Given the description of an element on the screen output the (x, y) to click on. 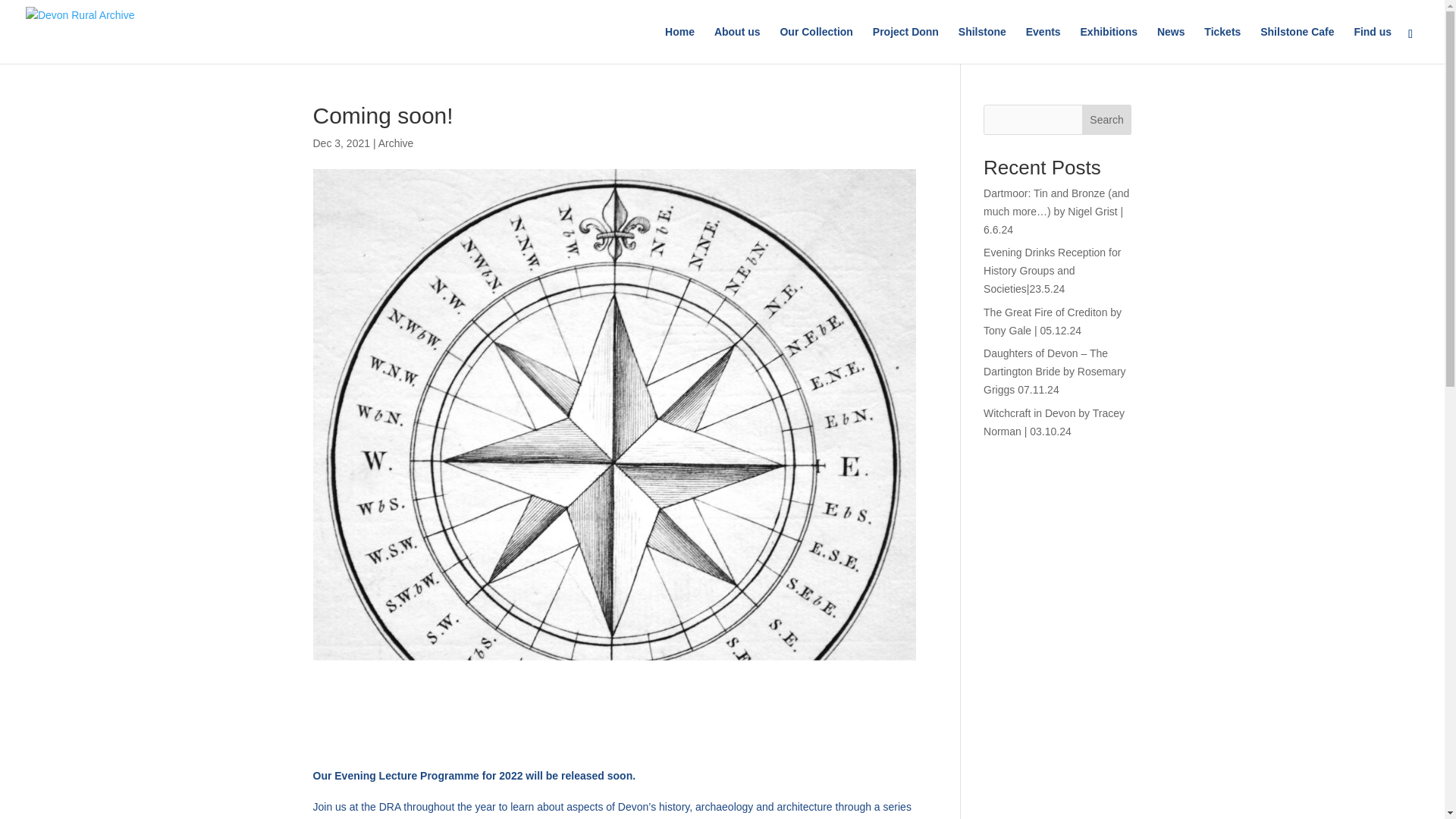
Project Donn (905, 44)
Find us (1372, 44)
Shilstone Cafe (1296, 44)
Tickets (1222, 44)
Events (1043, 44)
Search (1106, 119)
Our Collection (814, 44)
Shilstone (982, 44)
About us (737, 44)
Archive (395, 143)
